Given the description of an element on the screen output the (x, y) to click on. 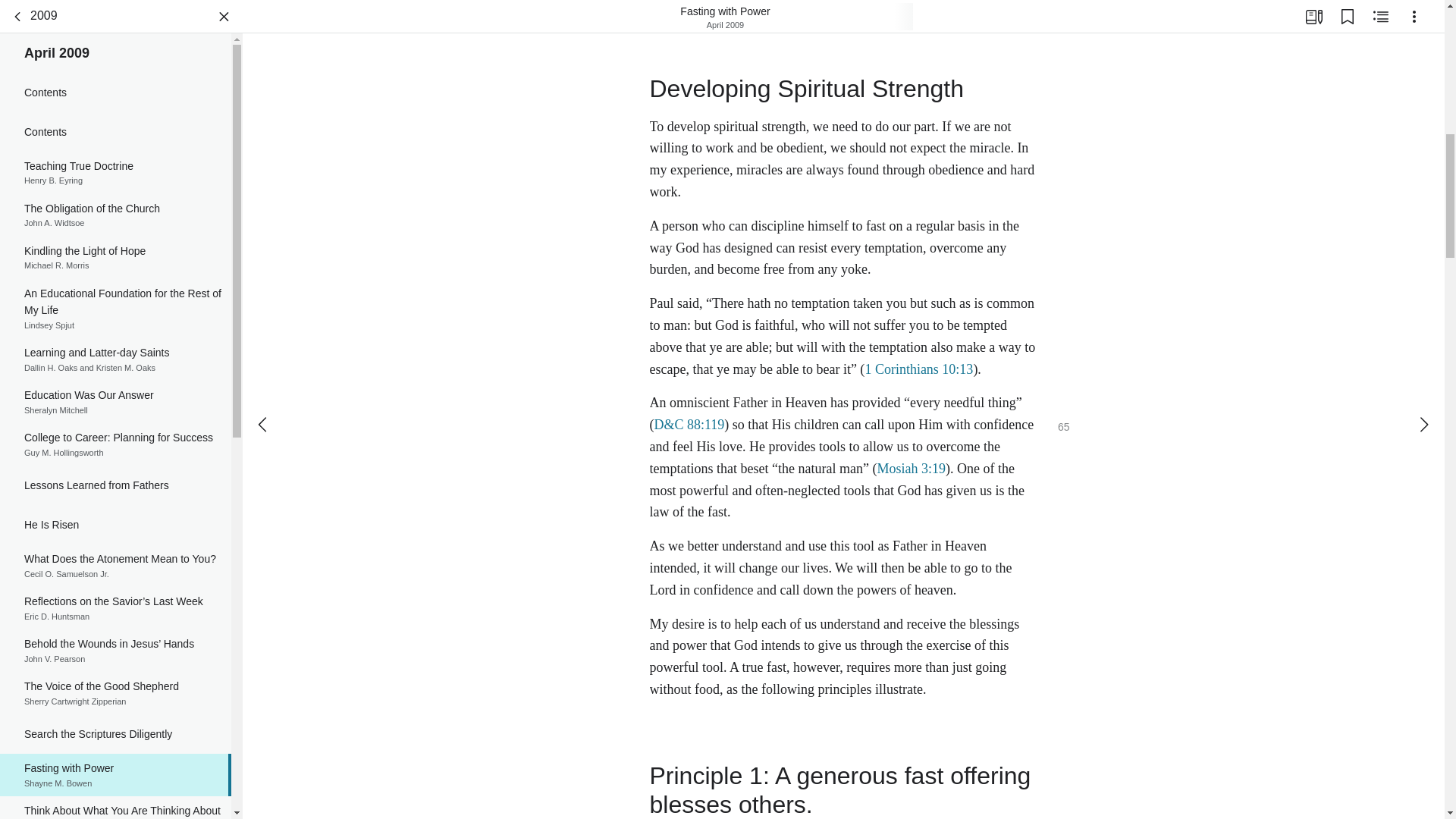
Random Sampler (115, 95)
Church Responds to Costly Ice Storm (115, 250)
Comments (115, 673)
